Given the description of an element on the screen output the (x, y) to click on. 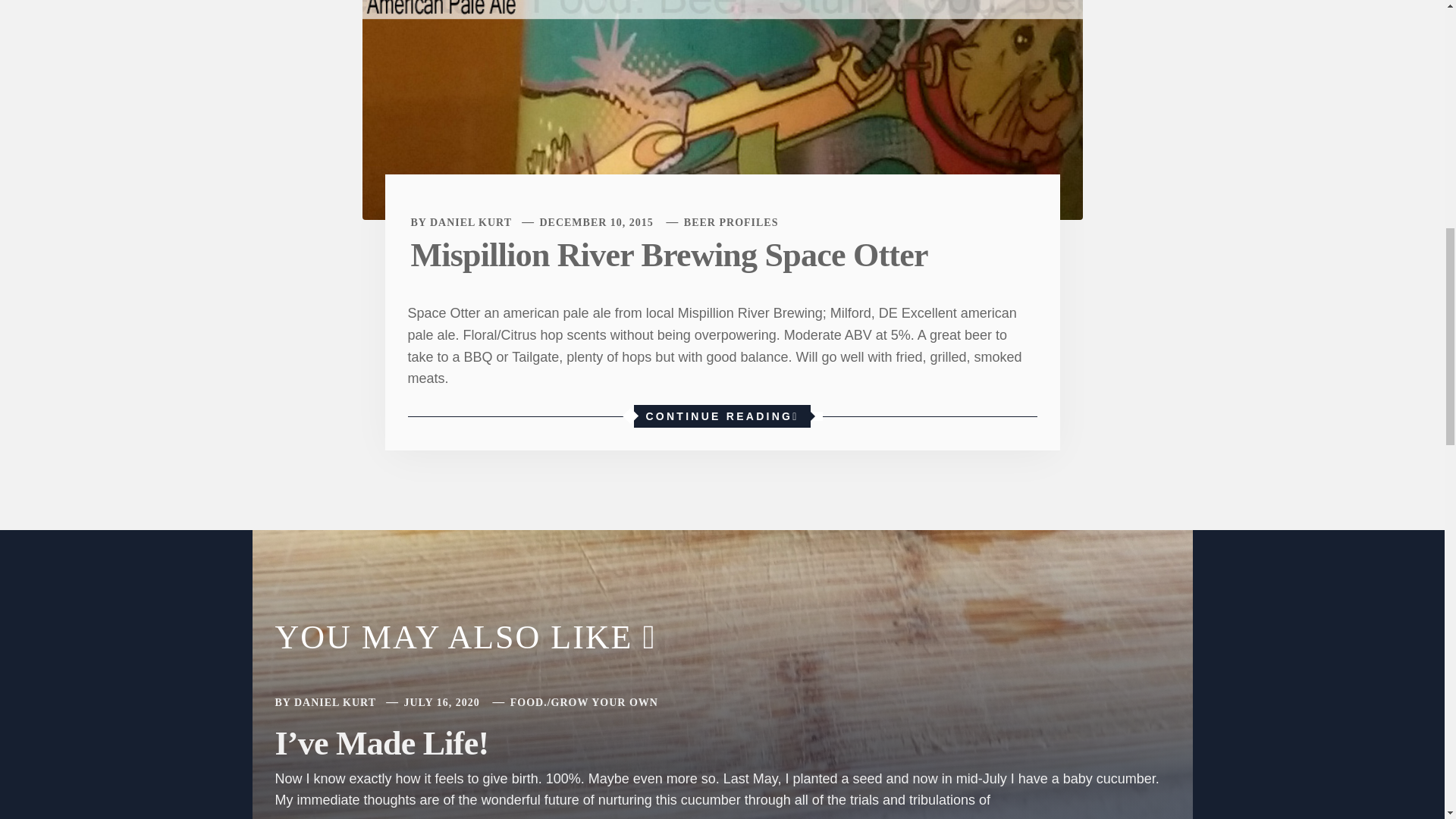
Mispillion River Brewing Space Otter (722, 14)
FOOD. (529, 702)
DANIEL KURT (334, 702)
Mispillion River Brewing Space Otter (669, 254)
BEER PROFILES (731, 222)
DECEMBER 10, 2015 (595, 222)
CONTINUE READING (721, 415)
GROW YOUR OWN (604, 702)
JULY 16, 2020 (441, 702)
DANIEL KURT (470, 222)
